Given the description of an element on the screen output the (x, y) to click on. 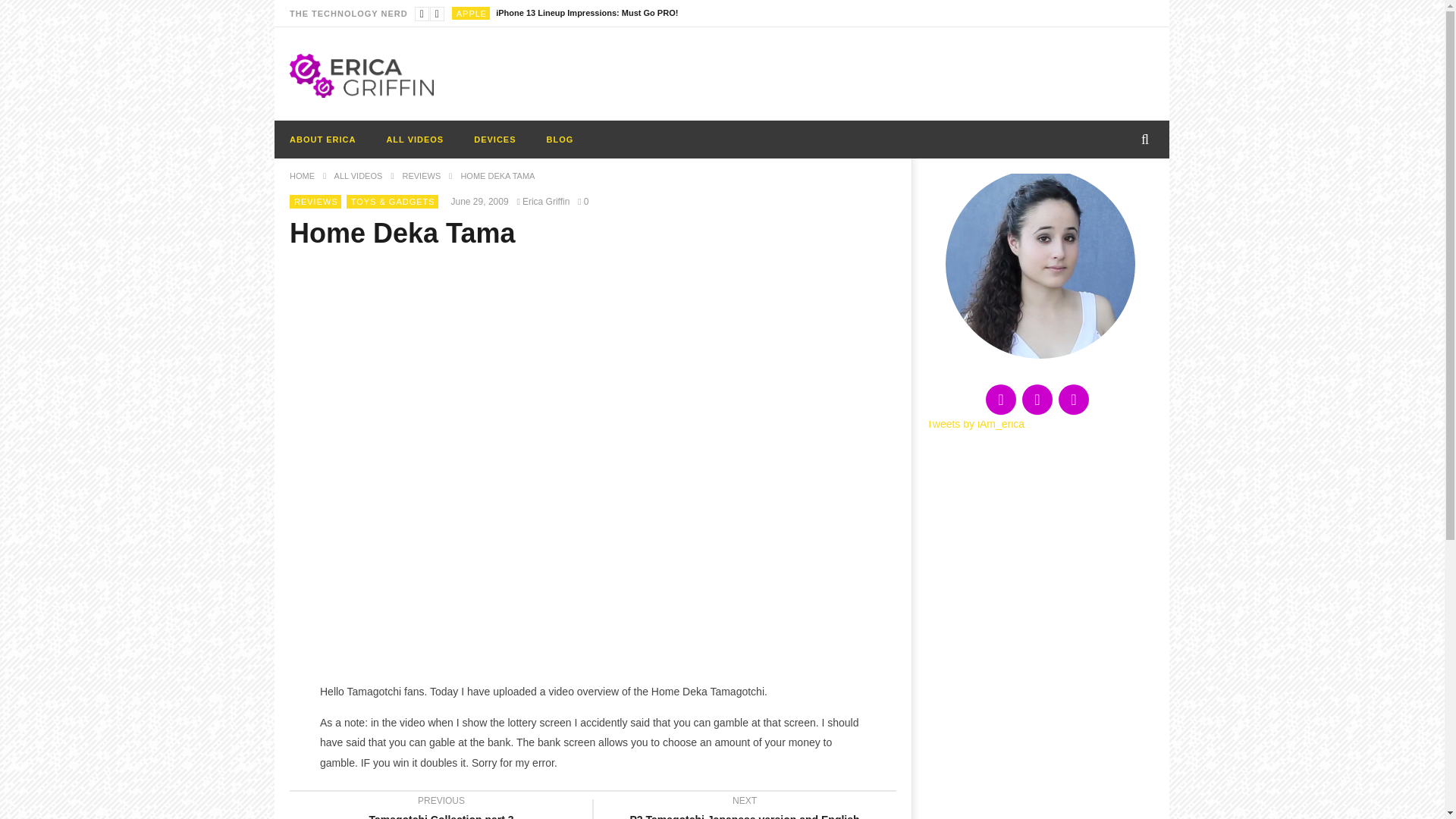
View all posts in Reviews (315, 201)
HOME (722, 139)
iPhone 13 Lineup Impressions: Must Go PRO! (301, 175)
iPhone 13 Lineup Impressions: Must Go PRO! (587, 12)
Erica Griffin (587, 12)
BLOG (361, 75)
0 (559, 139)
ABOUT ERICA (586, 201)
Erica Griffin (323, 139)
View all posts in Apple (545, 201)
search (471, 13)
REVIEWS (1129, 171)
APPLE (315, 201)
ALL VIDEOS (471, 13)
